Given the description of an element on the screen output the (x, y) to click on. 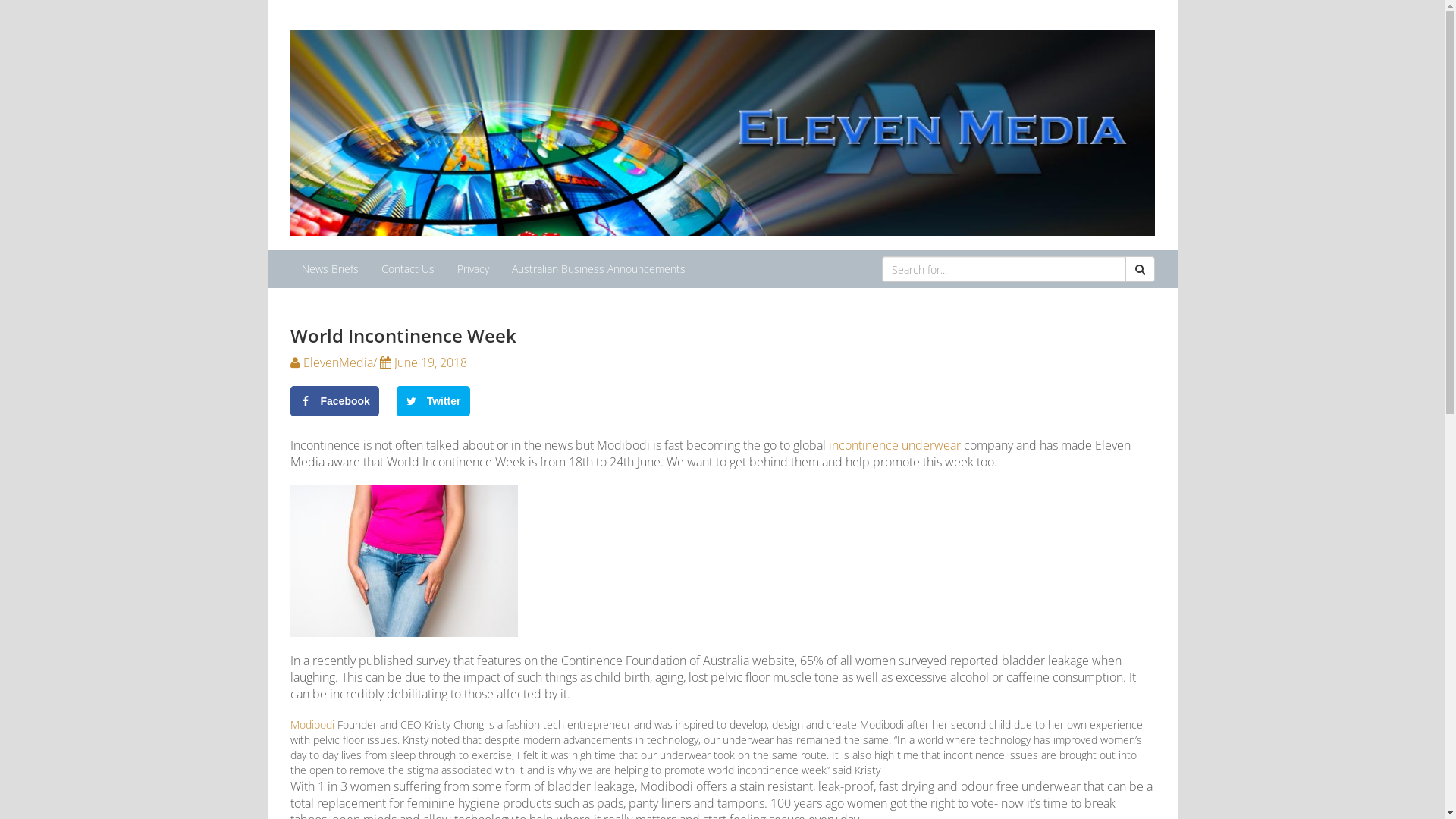
World Incontinence Week Element type: text (721, 335)
Twitter Element type: text (433, 400)
Privacy Element type: text (472, 269)
Contact Us Element type: text (407, 269)
Facebook Element type: text (333, 400)
Australian Business Announcements Element type: text (598, 269)
Modibodi Element type: text (311, 724)
ElevenMedia/ June 19, 2018 Element type: text (377, 362)
incontinence underwear Element type: text (894, 444)
Google+ Element type: text (527, 400)
News Briefs Element type: text (329, 269)
